Given the description of an element on the screen output the (x, y) to click on. 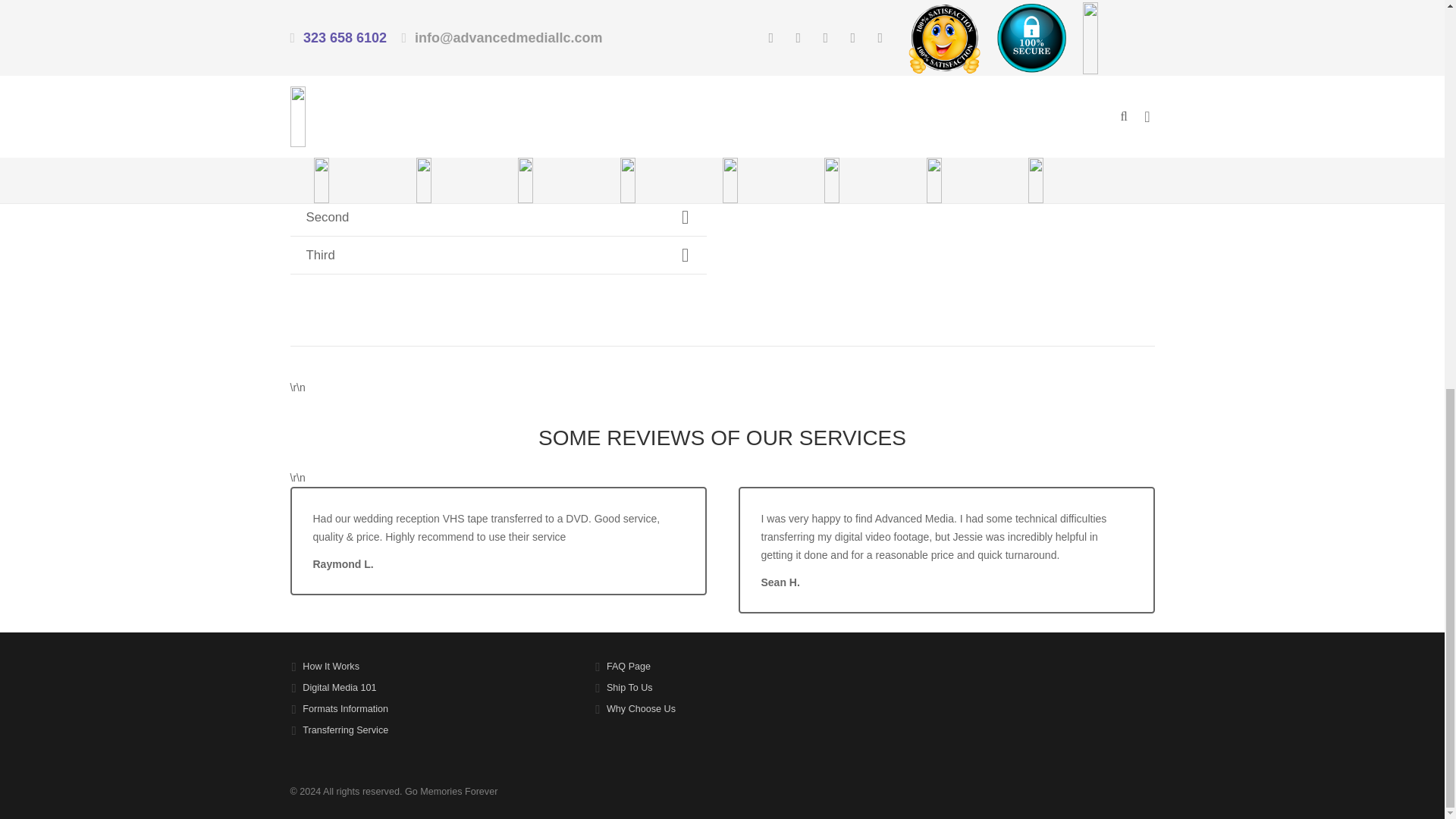
Back to top (1413, 103)
Second (497, 217)
GET STARTED (358, 46)
First (497, 179)
Third (497, 254)
